Given the description of an element on the screen output the (x, y) to click on. 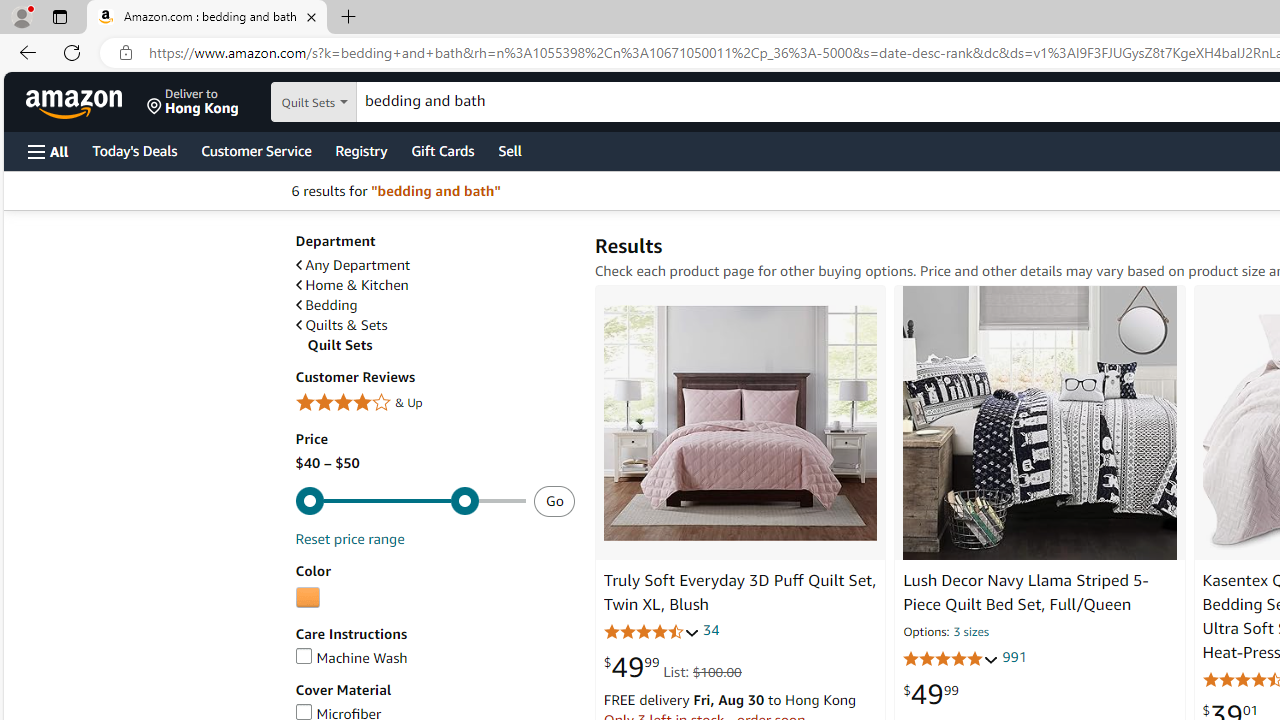
Quilt Sets (440, 345)
Go - Submit price range (554, 501)
Truly Soft Everyday 3D Puff Quilt Set, Twin XL, Blush (740, 422)
3 sizes (970, 632)
4.8 out of 5 stars (950, 659)
Minimum (410, 500)
Truly Soft Everyday 3D Puff Quilt Set, Twin XL, Blush (739, 592)
Open Menu (48, 151)
AutomationID: p_n_feature_twenty_browse-bin/3254105011 (307, 597)
Quilts & Sets (340, 325)
Quilts & Sets (434, 325)
